Given the description of an element on the screen output the (x, y) to click on. 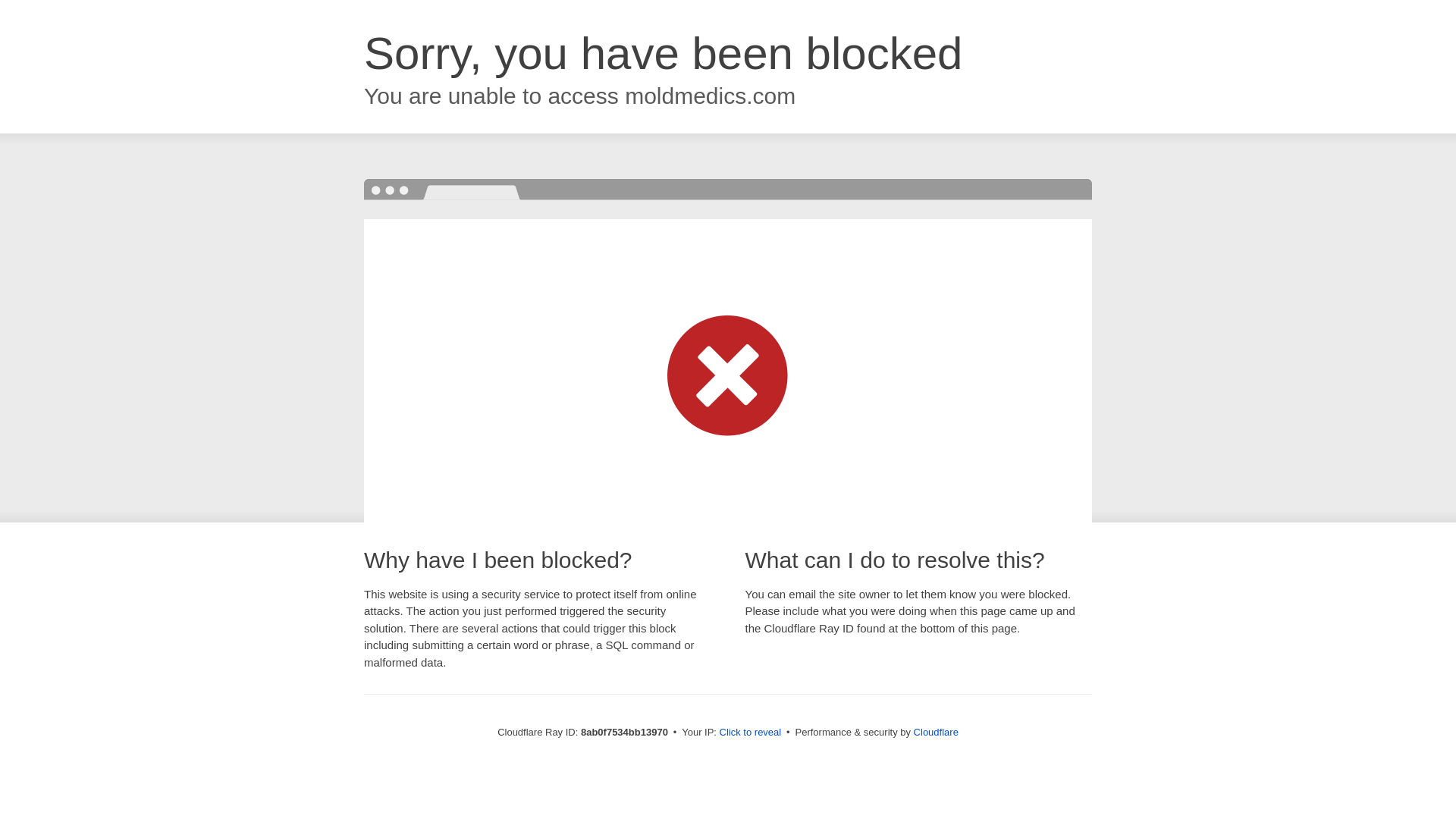
Click to reveal (750, 732)
Cloudflare (936, 731)
